Given the description of an element on the screen output the (x, y) to click on. 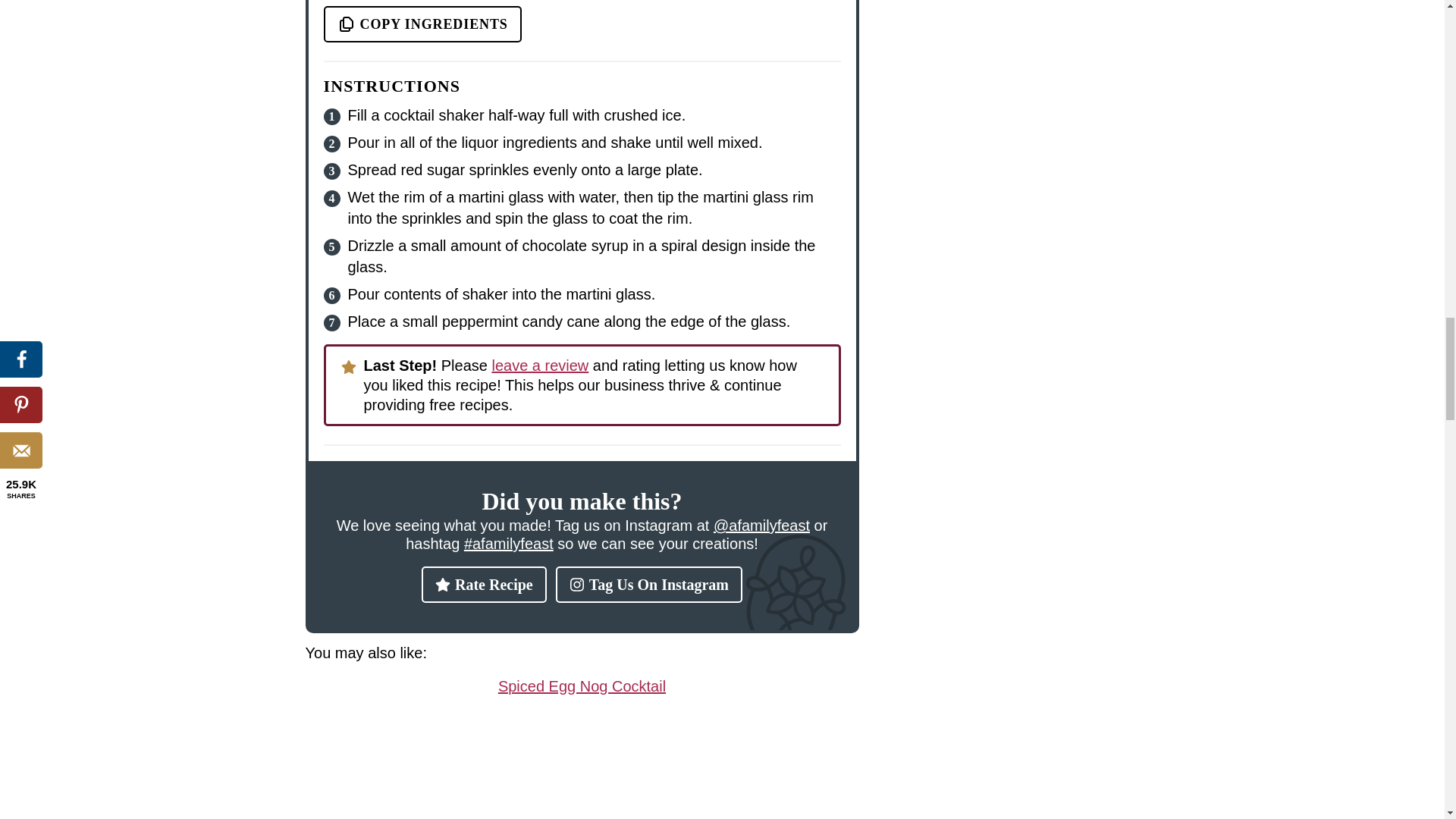
Spiced Eggnog Cocktail (581, 686)
